Given the description of an element on the screen output the (x, y) to click on. 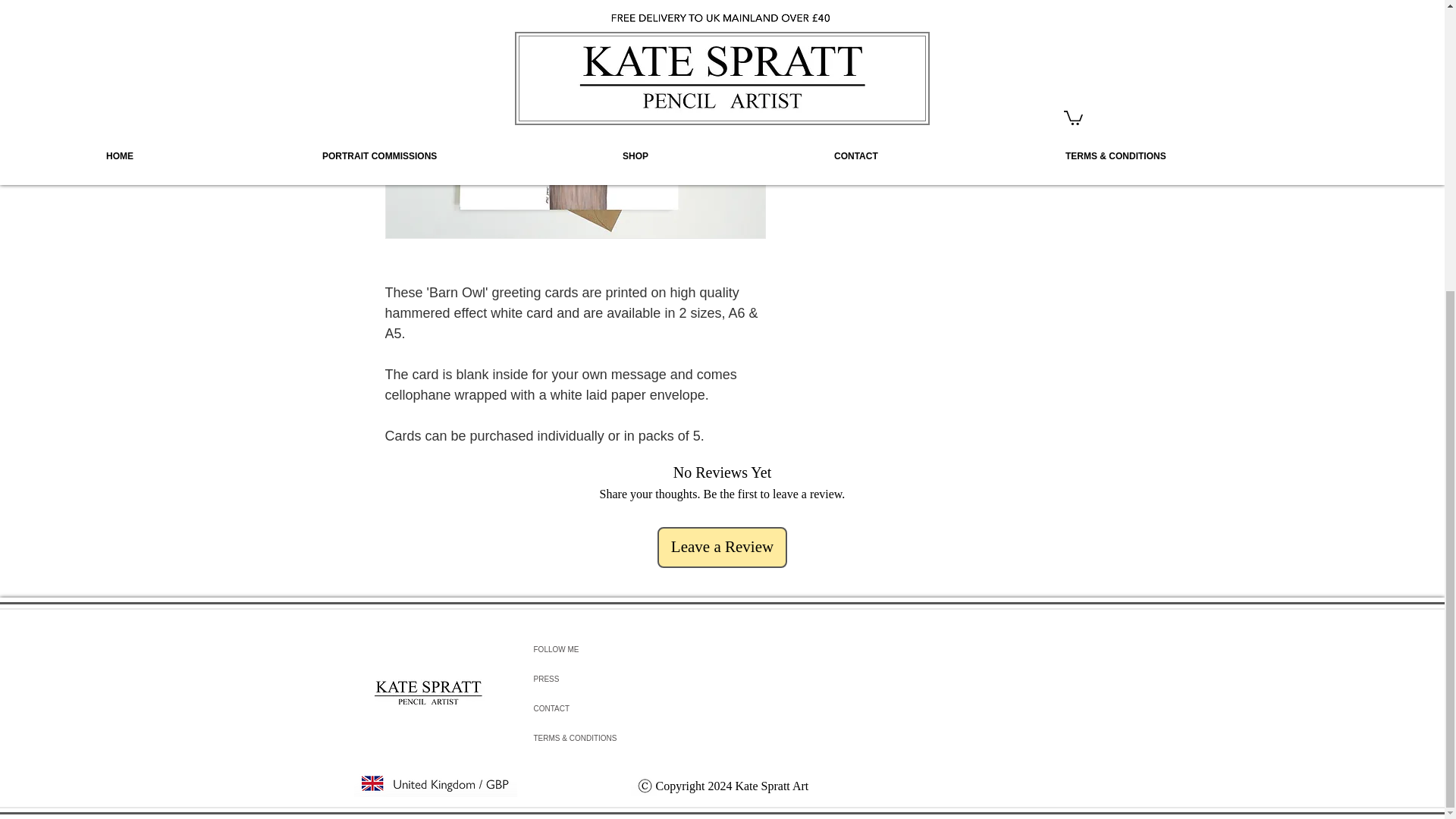
CONTACT (601, 708)
PRESS (601, 678)
Add to Cart (924, 38)
Buy Now (924, 79)
Leave a Review (722, 547)
